Given the description of an element on the screen output the (x, y) to click on. 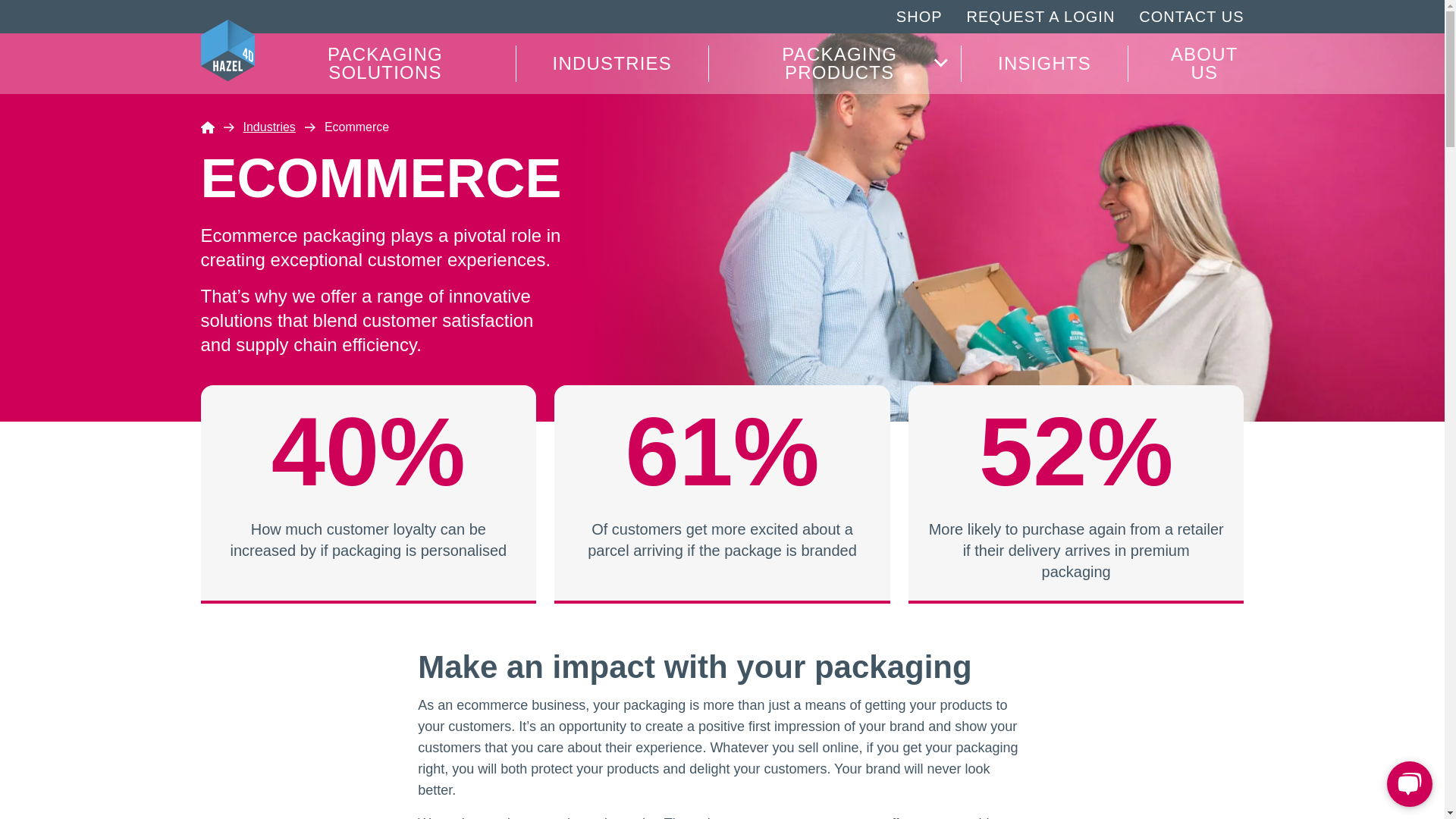
Contact Us (1190, 16)
Shop (919, 16)
Request a Login (1040, 16)
CONTACT US (1190, 16)
PACKAGING SOLUTIONS (384, 63)
REQUEST A LOGIN (1040, 16)
INDUSTRIES (612, 63)
PACKAGING PRODUCTS (834, 63)
SHOP (294, 126)
